Given the description of an element on the screen output the (x, y) to click on. 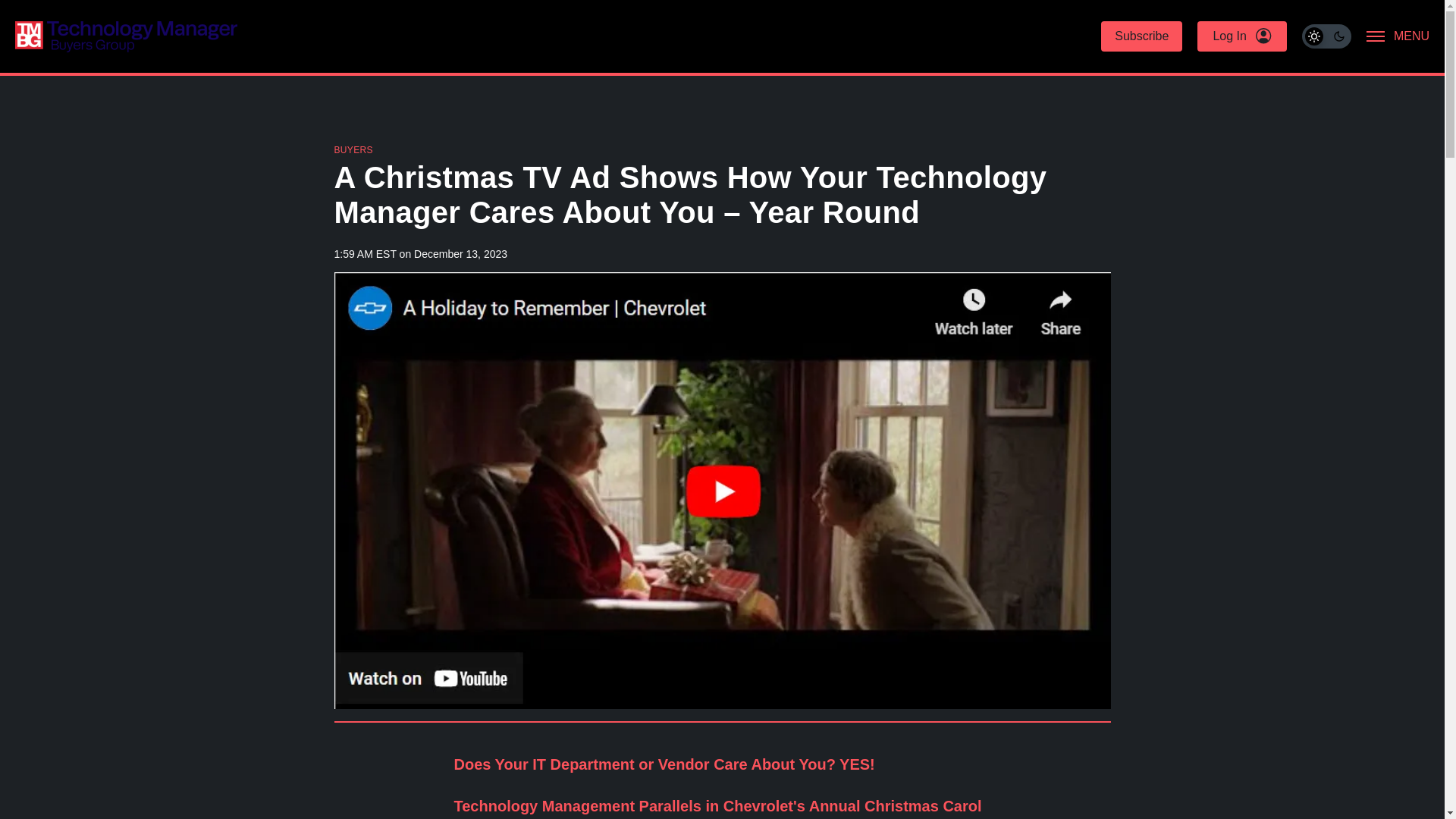
BUYERS (352, 149)
Subscribe (1141, 36)
MENU (1398, 36)
Log In (1240, 36)
